Given the description of an element on the screen output the (x, y) to click on. 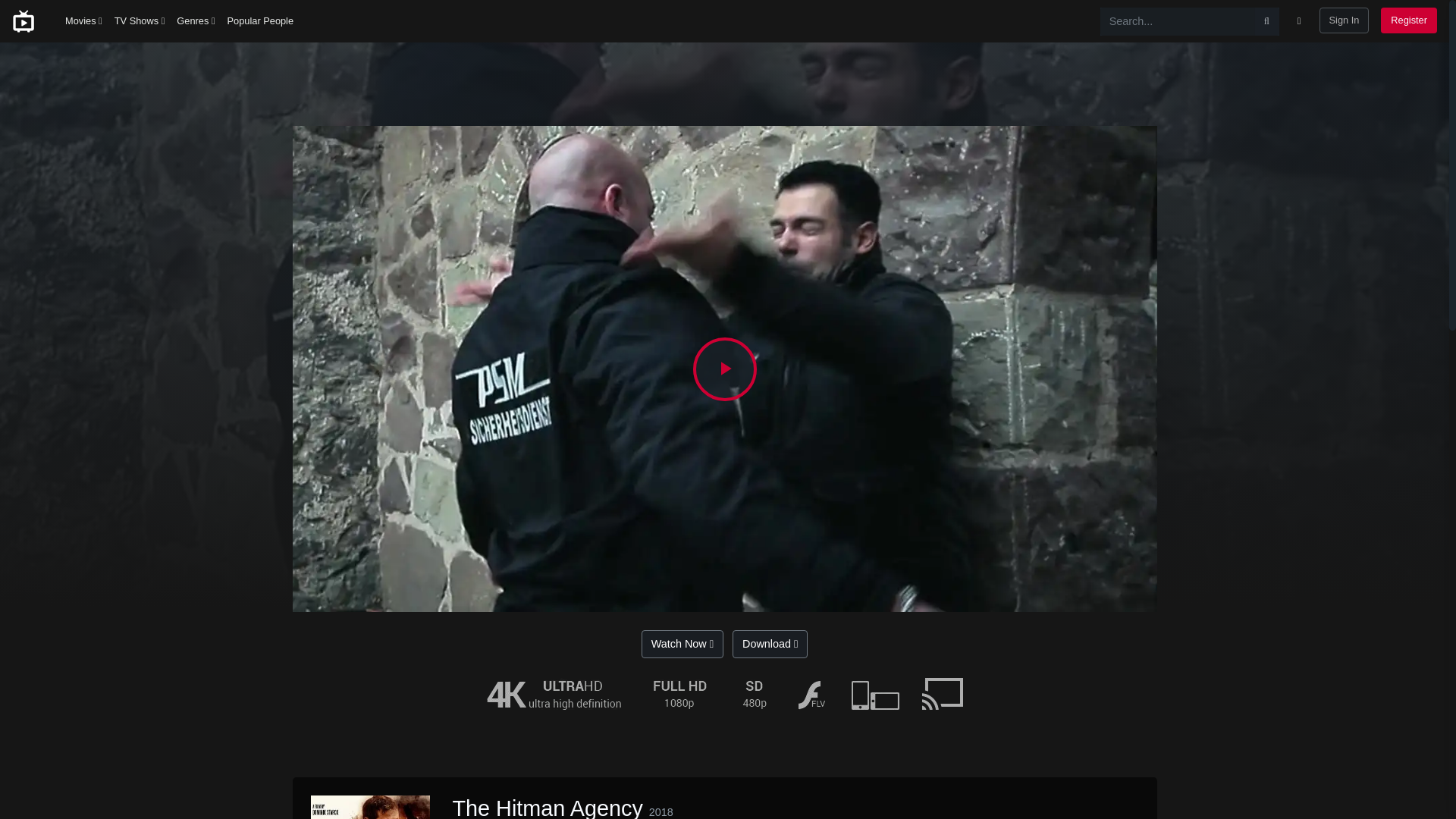
Movies (83, 21)
TV Shows (139, 21)
